Given the description of an element on the screen output the (x, y) to click on. 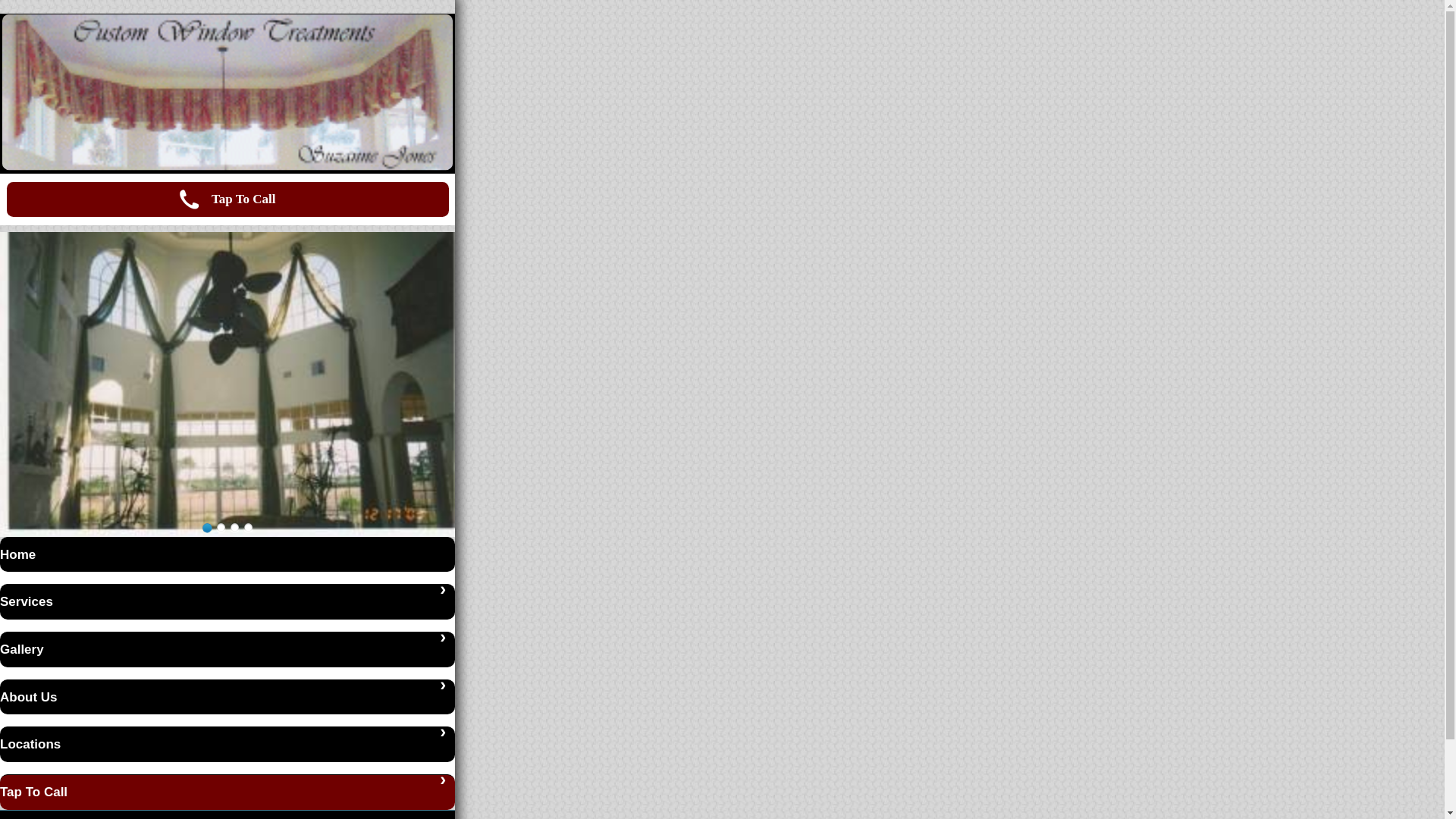
4 (247, 528)
1 (206, 528)
3 (233, 528)
Tap To Call (226, 199)
2 (220, 528)
